Given the description of an element on the screen output the (x, y) to click on. 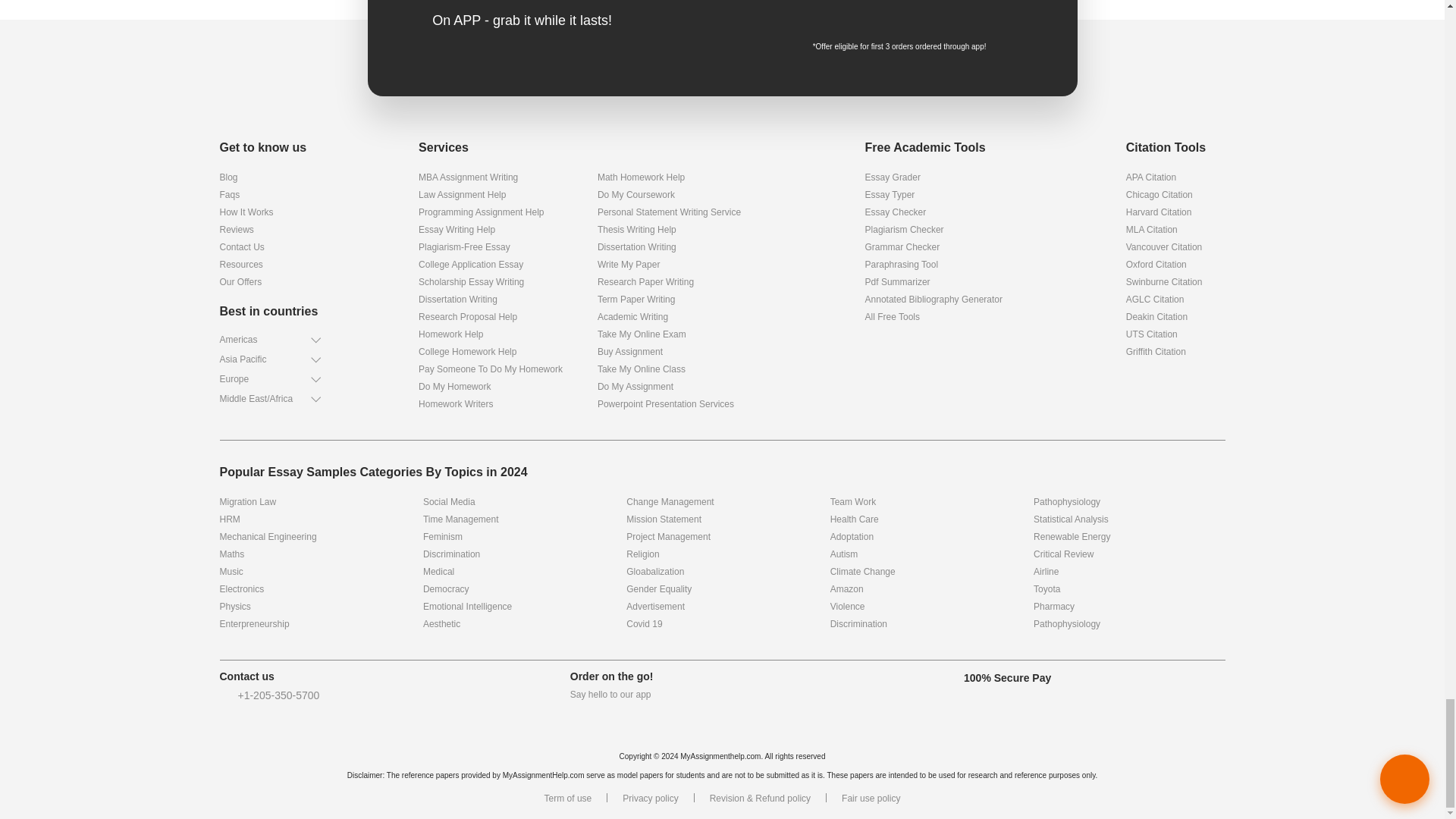
footer-ph (224, 695)
google-pay (858, 12)
qrcode (973, 16)
pataka (721, 81)
